Given the description of an element on the screen output the (x, y) to click on. 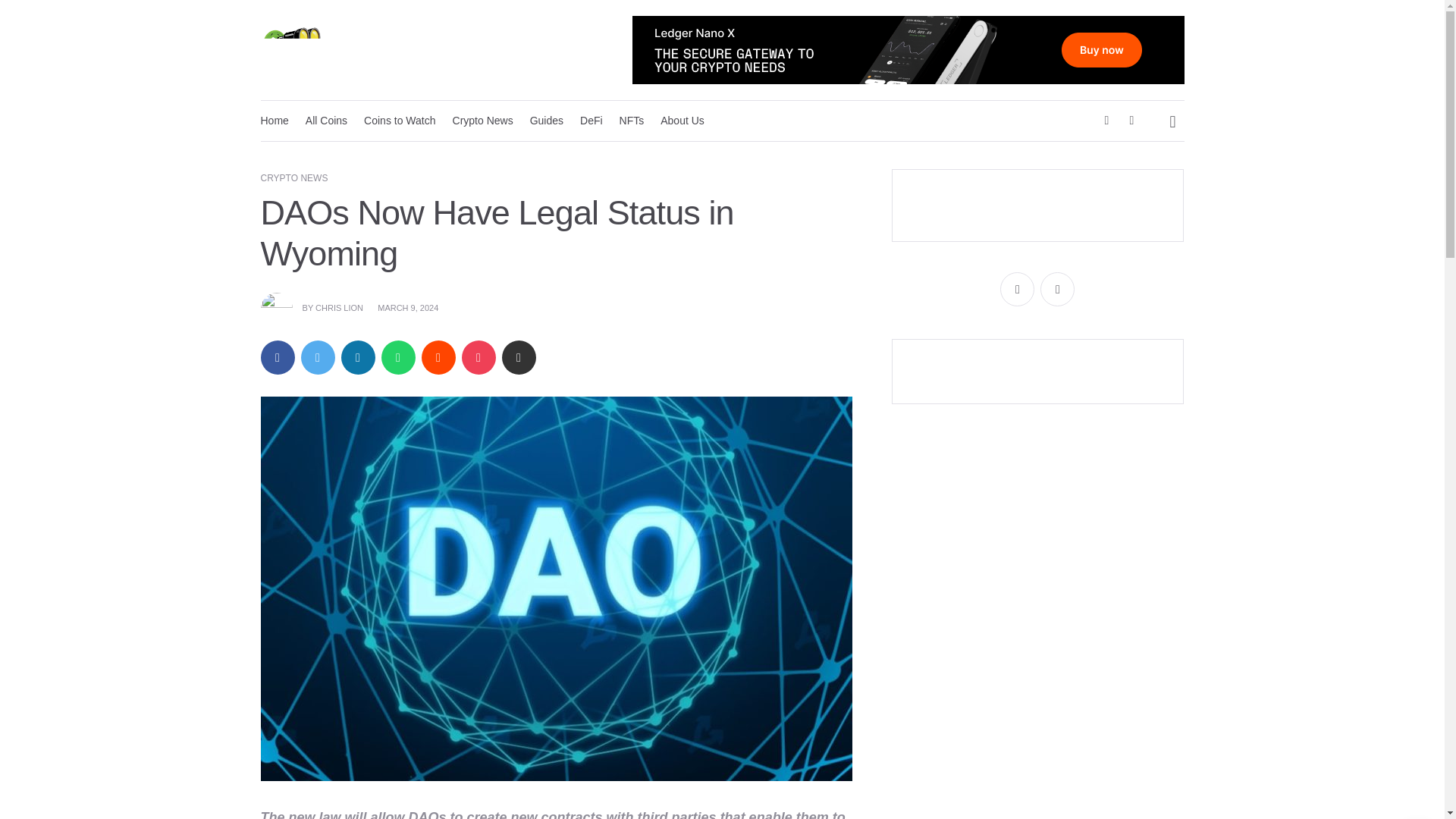
About Us (682, 120)
CRYPTO NEWS (294, 178)
NFTs (631, 120)
Coins to Watch (399, 120)
DeFi (591, 120)
BY CHRIS LION (312, 307)
All Coins (326, 120)
Facebook (1016, 288)
Guides (546, 120)
Twitter (1057, 288)
Crypto News (482, 120)
